Given the description of an element on the screen output the (x, y) to click on. 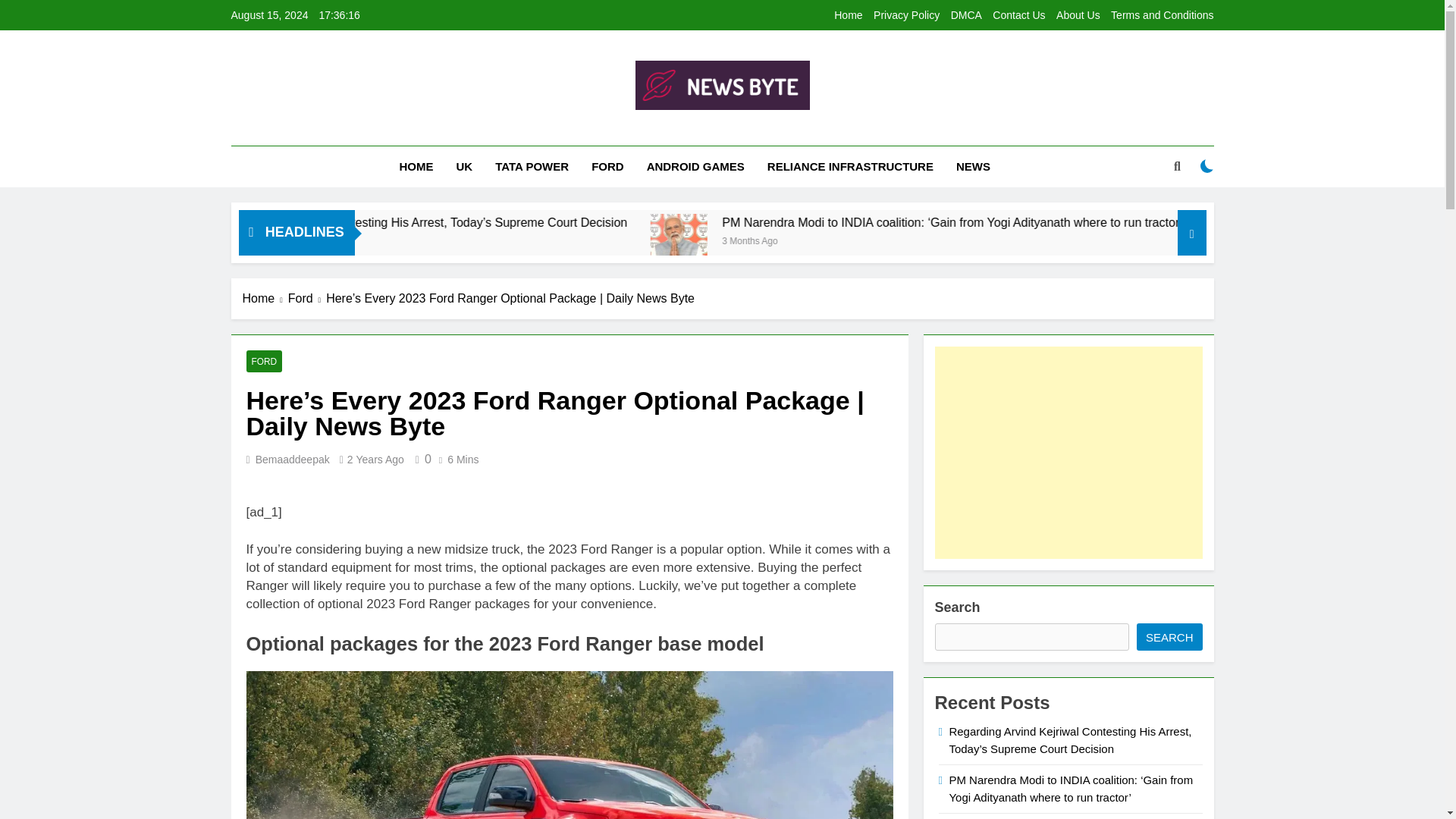
UK (464, 166)
About Us (1078, 15)
Contact Us (1018, 15)
FORD (606, 166)
NEWS (972, 166)
RELIANCE INFRASTRUCTURE (849, 166)
1 Month Ago (432, 239)
Home (847, 15)
DMCA (965, 15)
ANDROID GAMES (694, 166)
